Given the description of an element on the screen output the (x, y) to click on. 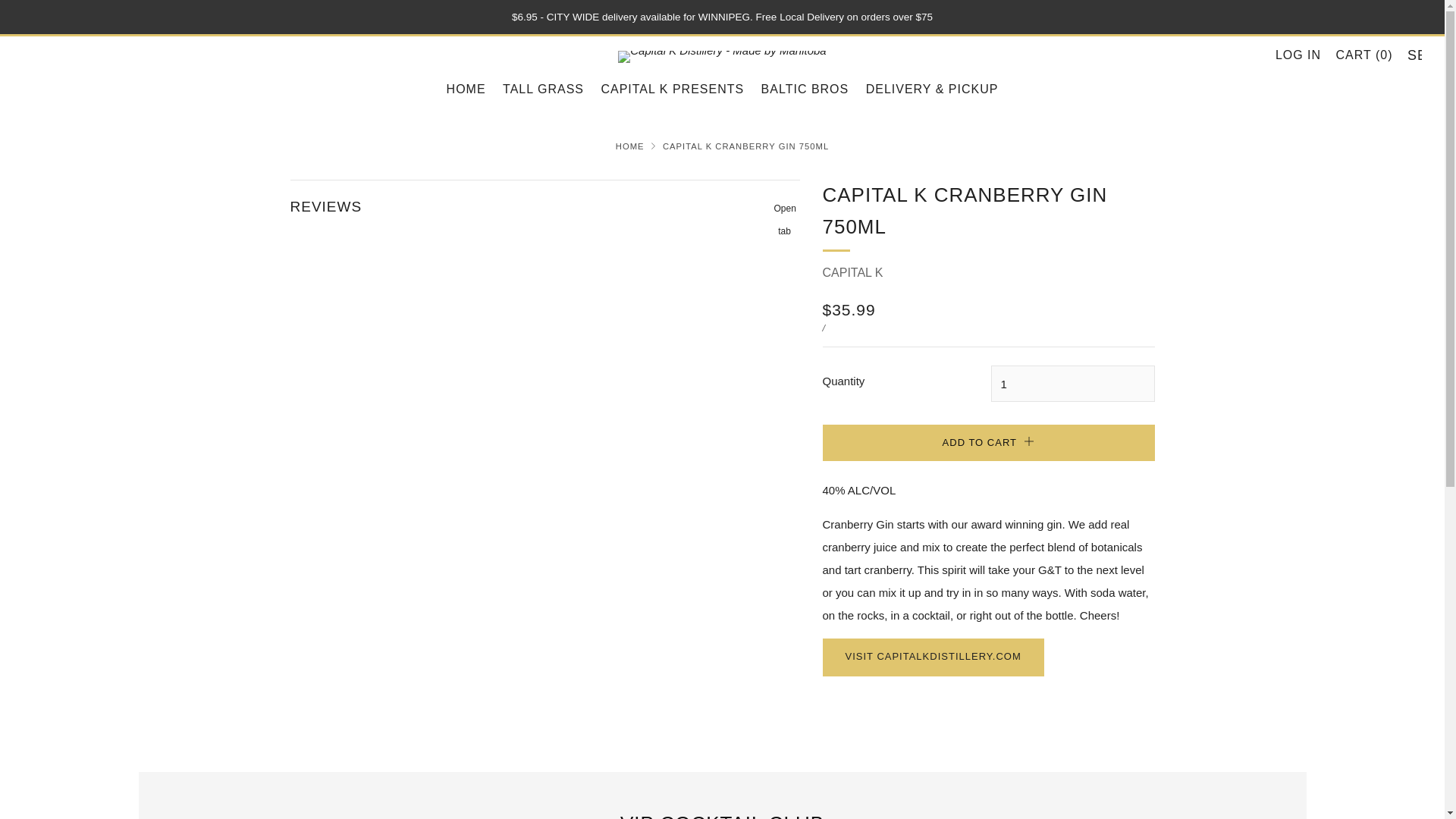
ADD TO CART (988, 443)
Home (630, 145)
1 (1072, 383)
BALTIC BROS (804, 88)
TALL GRASS (542, 88)
CAPITAL K (852, 272)
CAPITAL K PRESENTS (671, 88)
LOG IN (1297, 55)
CAPITAL K (544, 199)
